Given the description of an element on the screen output the (x, y) to click on. 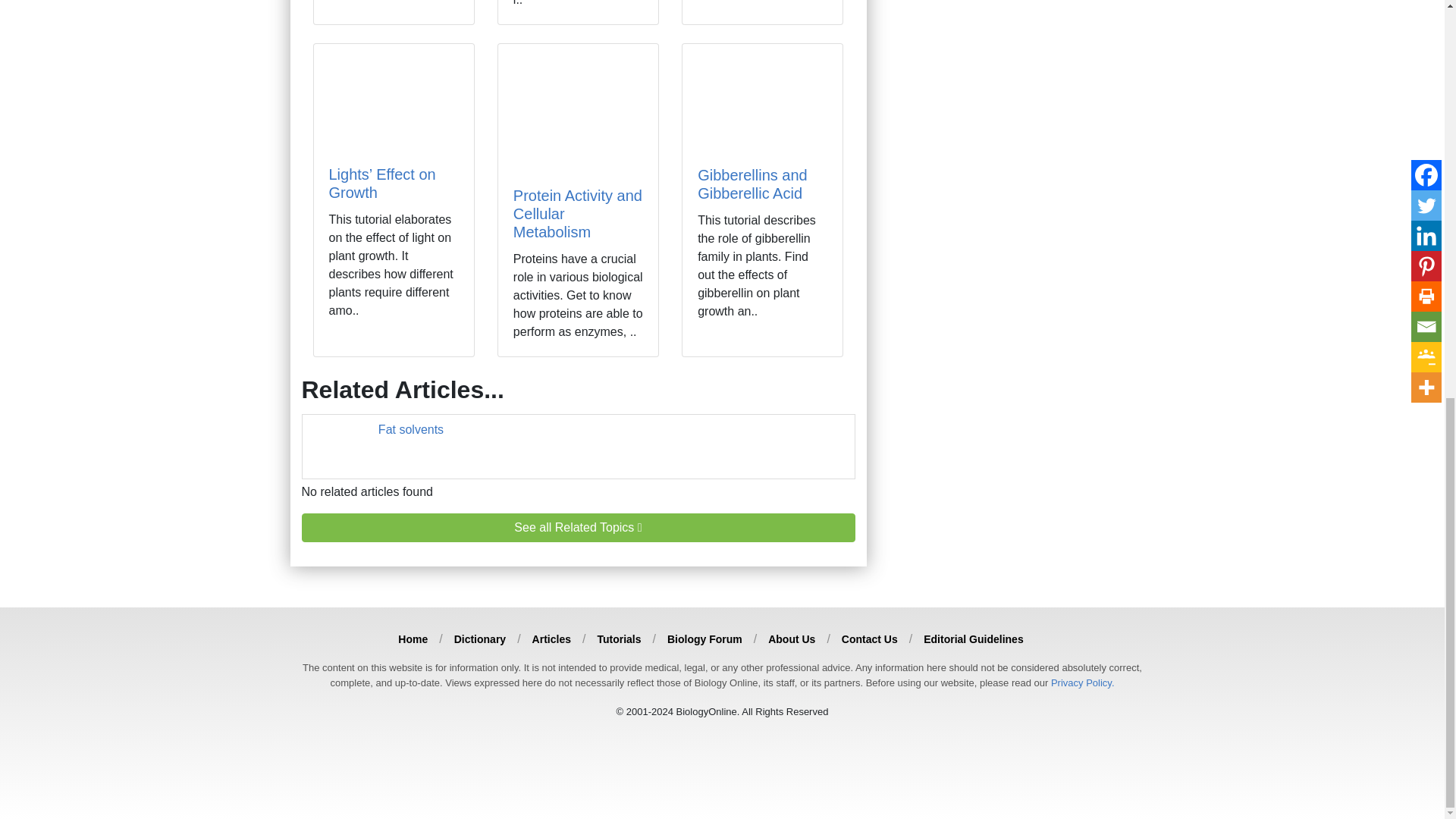
Home (412, 639)
Gibberellins and Gibberellic Acid (752, 184)
Dictionary (479, 639)
Articles (551, 639)
See all Related Topics (578, 527)
Fat solvents (411, 429)
Protein Activity and Cellular Metabolism (577, 213)
